Given the description of an element on the screen output the (x, y) to click on. 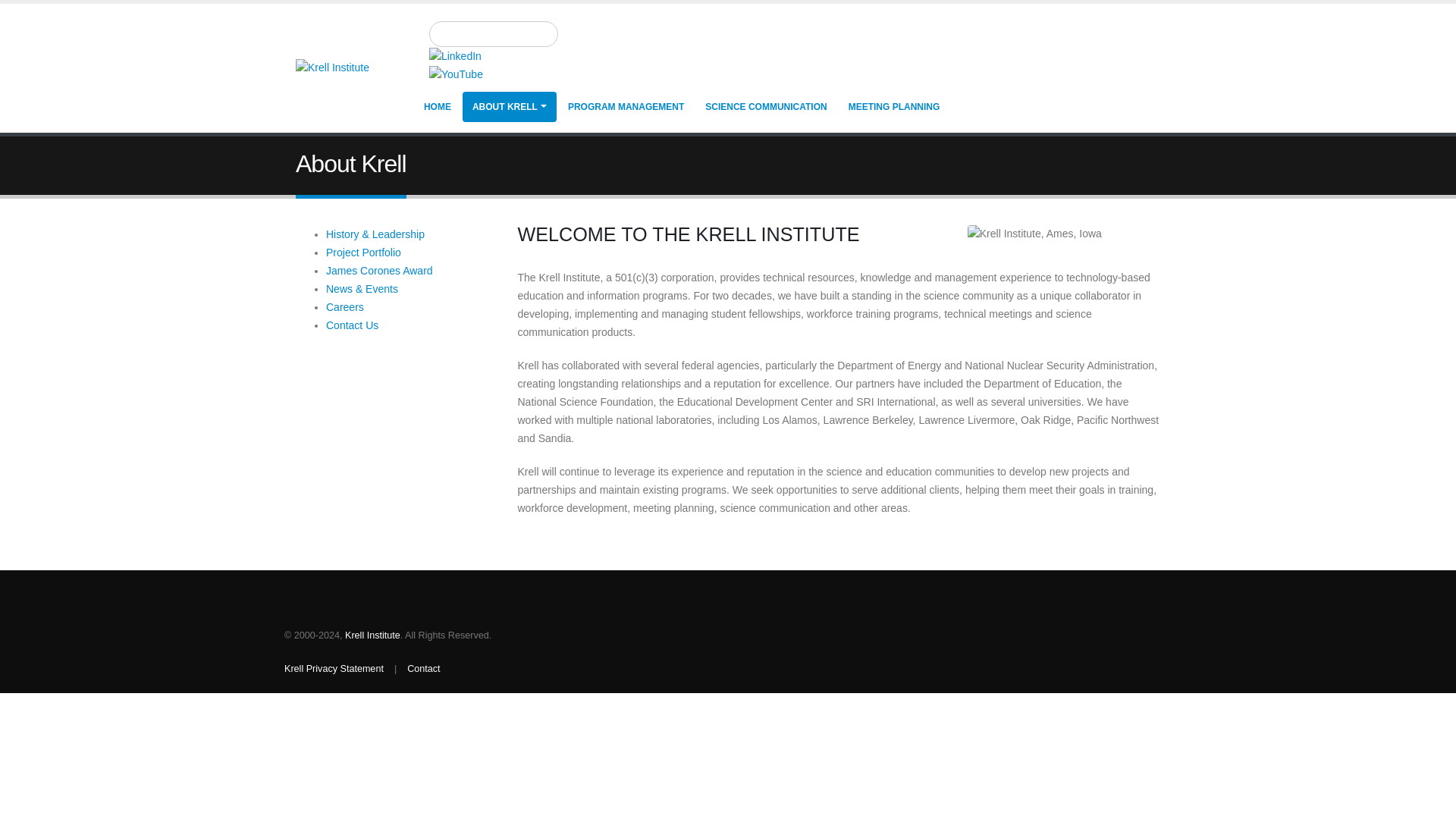
Project Portfolio (363, 252)
James Corones Award (379, 270)
Krell Institute, Ames Iowa (1064, 233)
Enter the terms you wish to search for. (493, 33)
SCIENCE COMMUNICATION (765, 106)
Contact Us (352, 325)
PROGRAM MANAGEMENT (625, 106)
HOME (437, 106)
Contact (423, 668)
Search (607, 38)
